Given the description of an element on the screen output the (x, y) to click on. 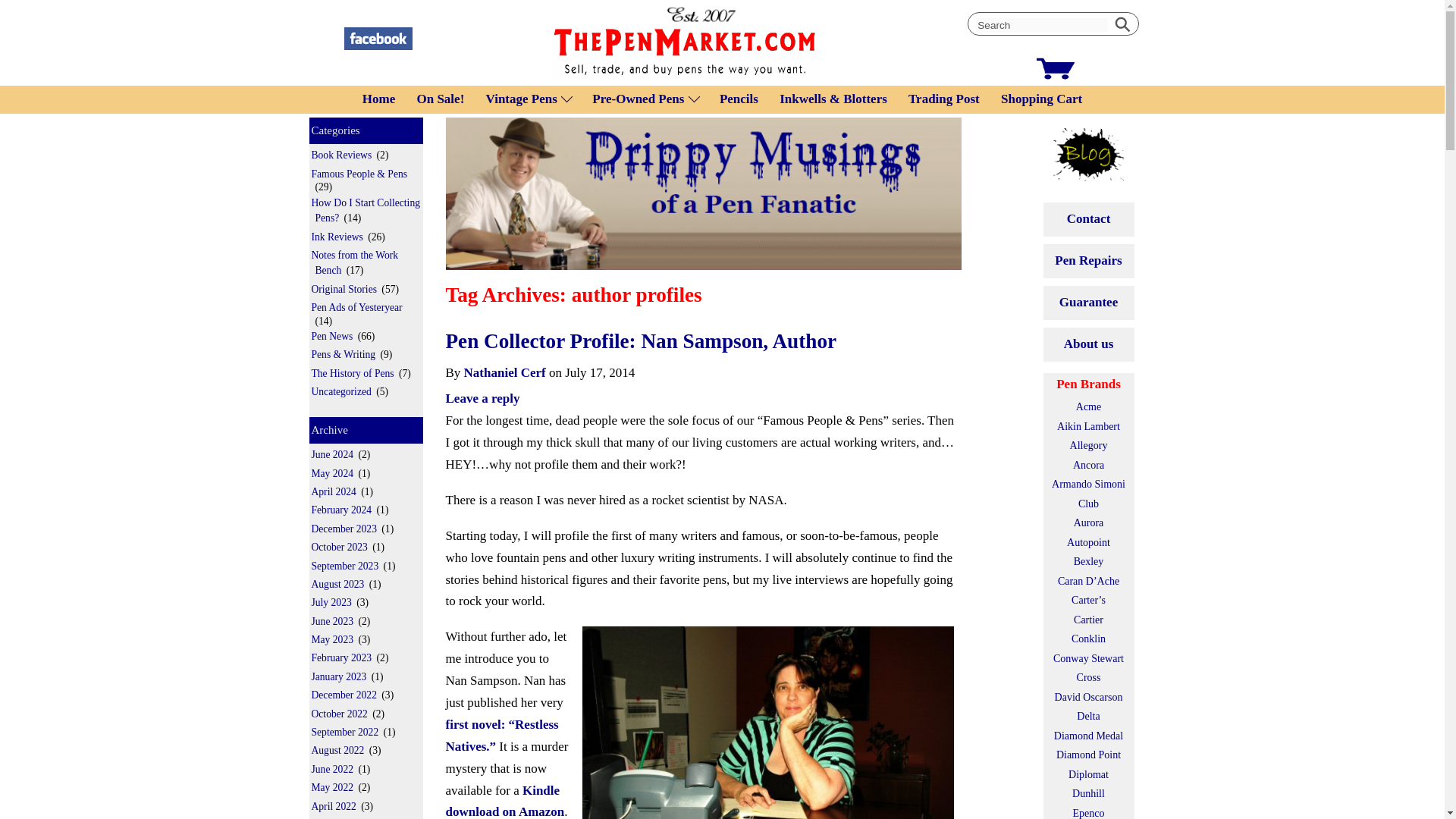
View all posts in Uncategorized (341, 391)
Search (1041, 25)
Home (378, 98)
View all posts in Pen Ads of Yesteryear (356, 307)
Click here to see Nan's book "Restless Natives" (502, 735)
View all posts in Ink Reviews (336, 236)
View all posts in How Do I Start Collecting Pens? (364, 210)
On Sale! (440, 98)
Permalink to Pen Collector Profile: Nan Sampson, Author (641, 341)
Posts by Nathaniel Cerf (505, 372)
View all posts in The History of Pens (352, 373)
Vintage Pens (521, 98)
View all posts in Notes from the Work Bench (353, 262)
View all posts in Original Stories (343, 289)
Click here to see Nan Sampson's book "Restless Natives." (504, 800)
